Given the description of an element on the screen output the (x, y) to click on. 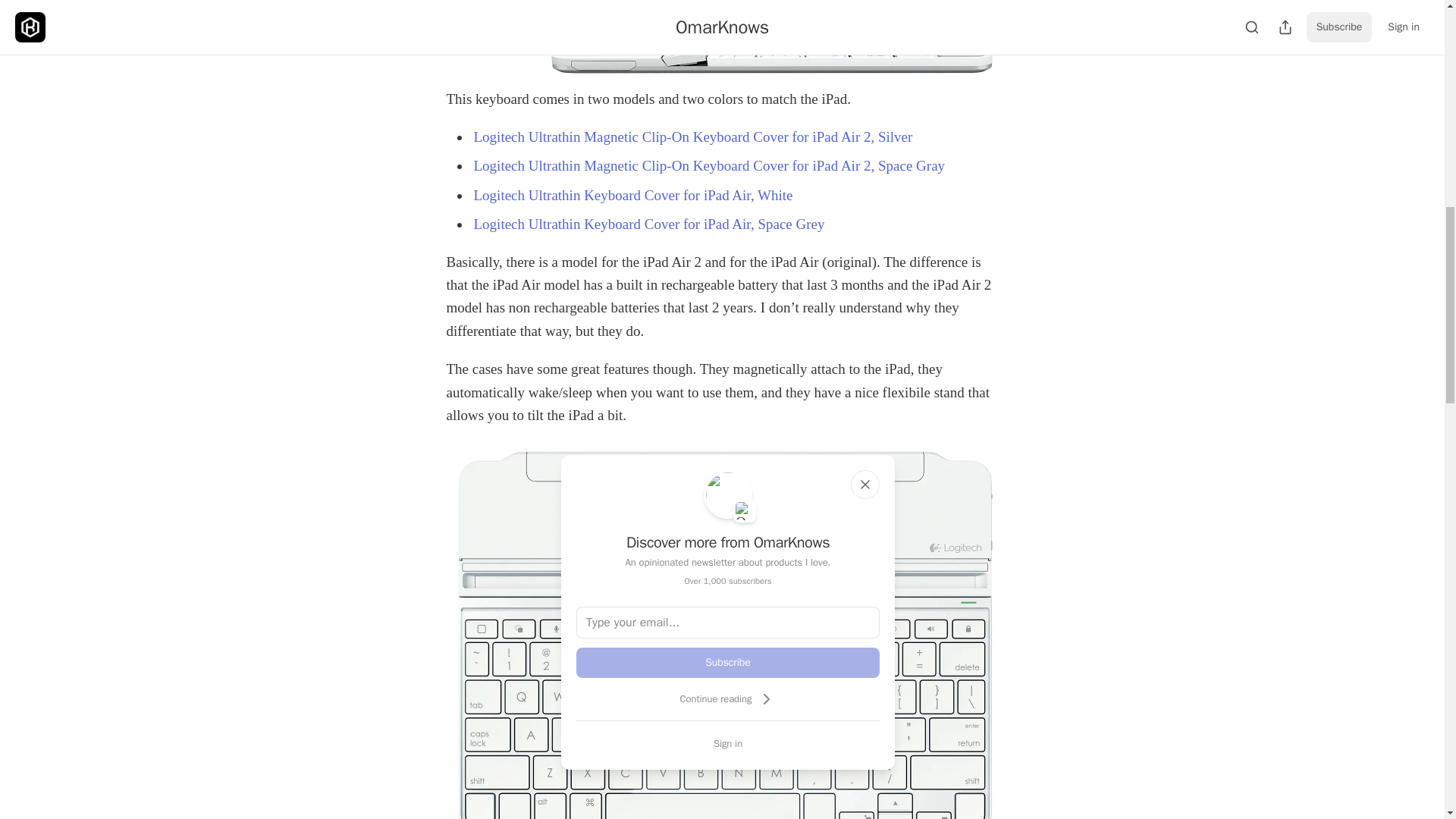
Logitech Ultrathin Keyboard Cover for iPad Air, White (632, 195)
Sign in (727, 743)
Subscribe (727, 662)
Logitech Ultrathin Keyboard Cover for iPad Air, Space Grey (648, 223)
